Given the description of an element on the screen output the (x, y) to click on. 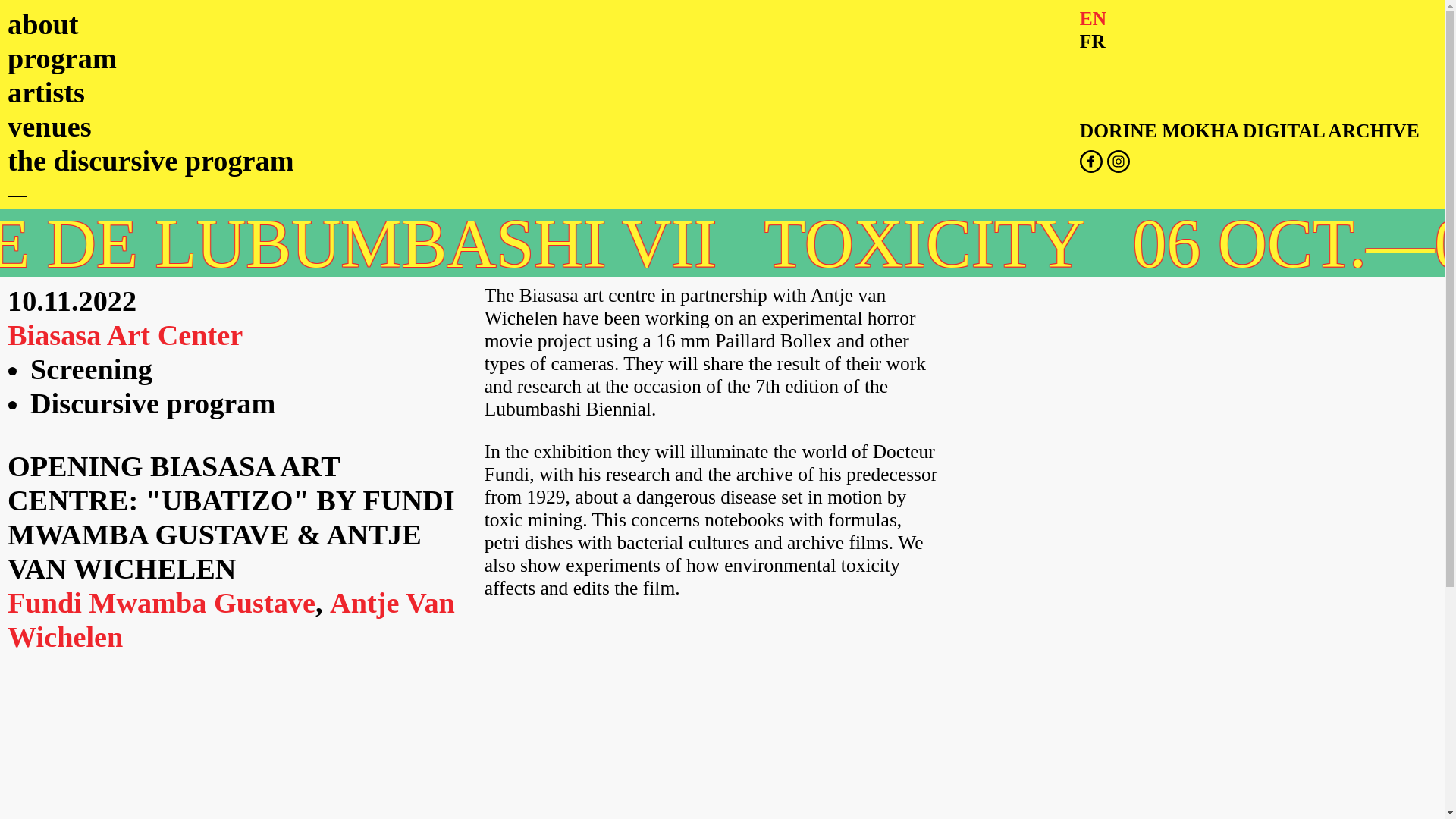
the discursive program (150, 160)
EN (1093, 18)
artists (45, 92)
Biasasa Art Center (125, 335)
DORINE MOKHA DIGITAL ARCHIVE (1249, 130)
venues (49, 126)
about (42, 24)
Antje Van Wichelen (230, 619)
Fundi Mwamba Gustave (161, 603)
FR (1092, 41)
